Given the description of an element on the screen output the (x, y) to click on. 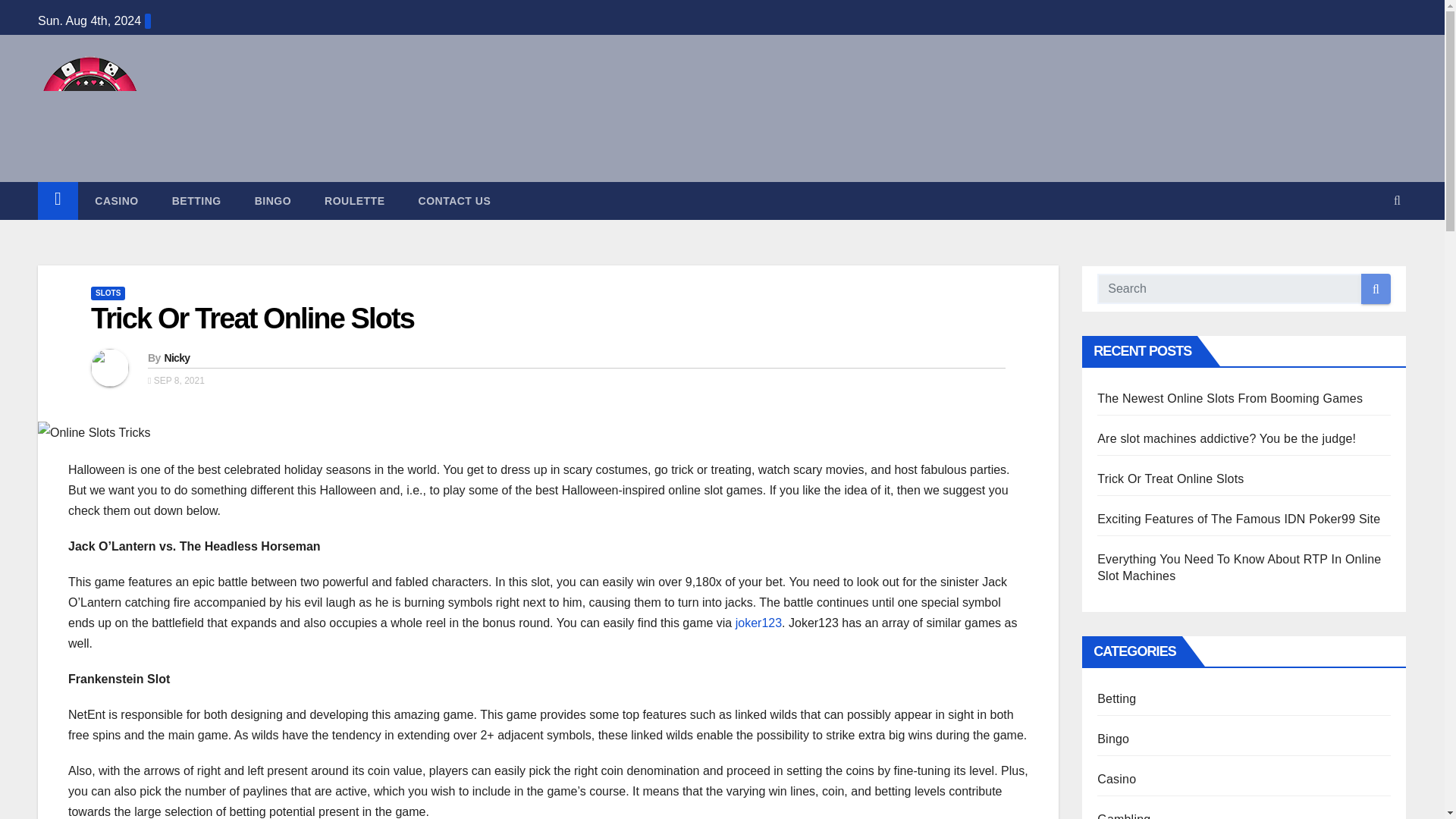
Nicky (176, 357)
The Newest Online Slots From Booming Games (1229, 398)
Trick Or Treat Online Slots (1170, 478)
ROULETTE (354, 200)
SLOTS (107, 293)
Permalink to: Trick Or Treat Online Slots (251, 318)
Exciting Features of The Famous IDN Poker99 Site (1238, 518)
BINGO (272, 200)
Trick Or Treat Online Slots (251, 318)
Are slot machines addictive? You be the judge! (1226, 438)
Bingo (1113, 738)
CASINO (116, 200)
CONTACT US (454, 200)
Betting (1116, 698)
BETTING (196, 200)
